Given the description of an element on the screen output the (x, y) to click on. 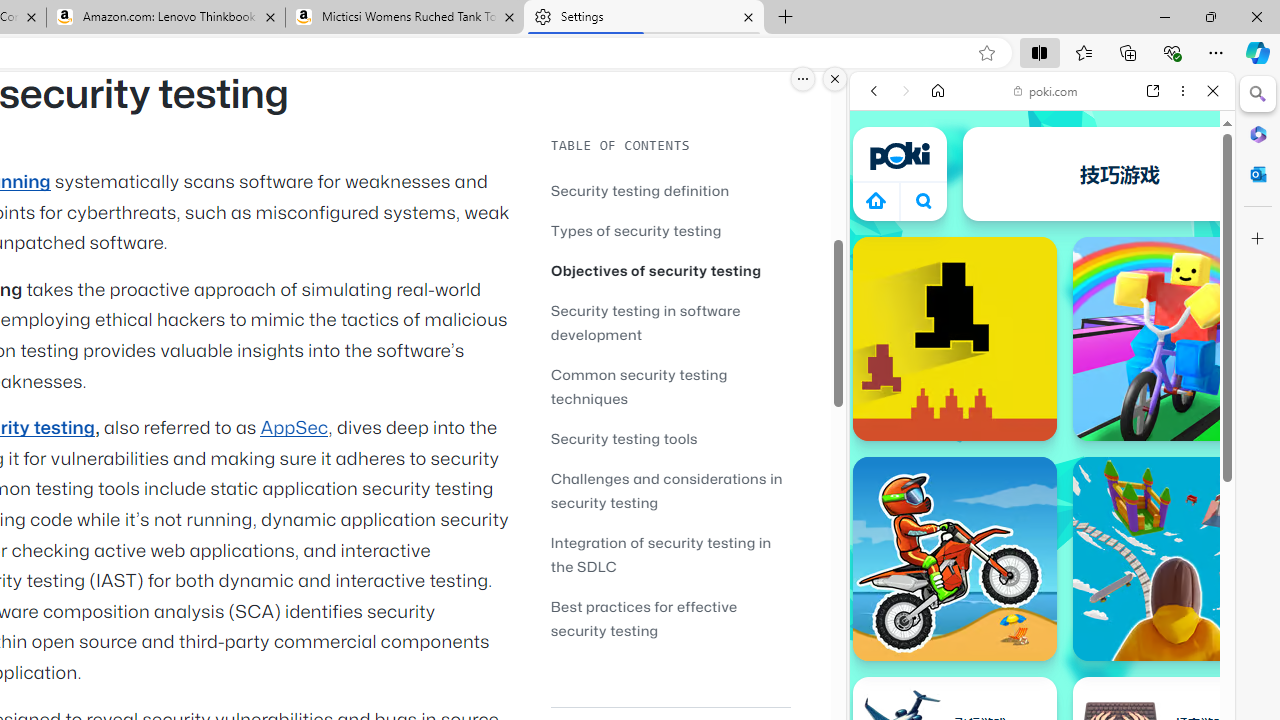
AppSec (293, 428)
Stickman Hook (1009, 173)
Back (874, 91)
Shooting Games (1042, 518)
Challenges and considerations in security testing (670, 489)
Show More Two Player Games (1164, 570)
Rainbow Obby Rainbow Obby (1174, 338)
Security testing definition (670, 190)
Rainbow Obby (1174, 338)
SEARCH TOOLS (1093, 228)
Integration of security testing in the SDLC (660, 554)
